Given the description of an element on the screen output the (x, y) to click on. 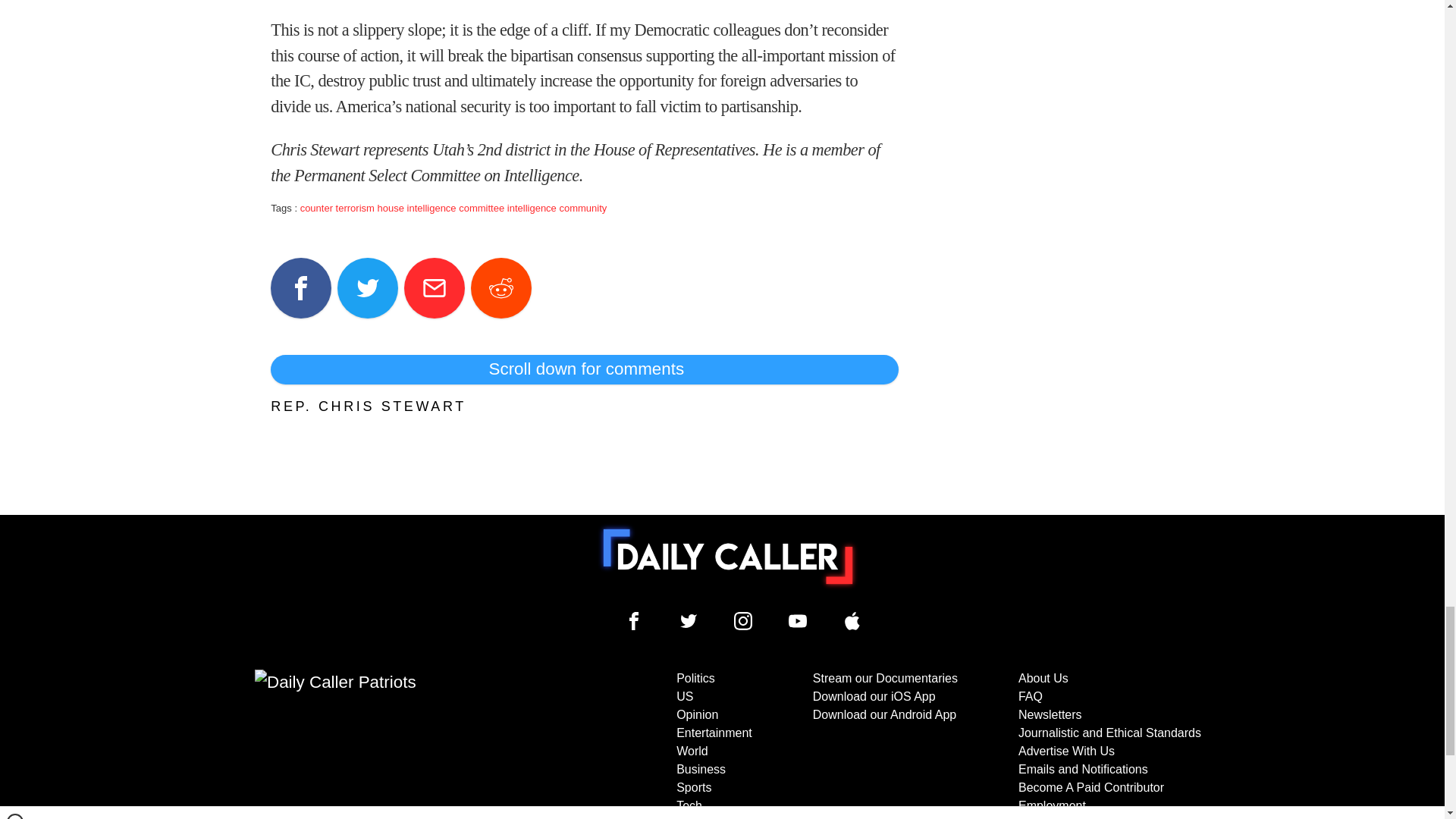
Daily Caller Twitter (688, 620)
Scroll down for comments (584, 369)
counter terrorism (336, 207)
Subscribe to The Daily Caller (405, 744)
To home page (727, 556)
Daily Caller Instagram (742, 620)
Daily Caller YouTube (797, 620)
Daily Caller YouTube (852, 620)
Daily Caller Facebook (633, 620)
house intelligence committee (441, 207)
